Given the description of an element on the screen output the (x, y) to click on. 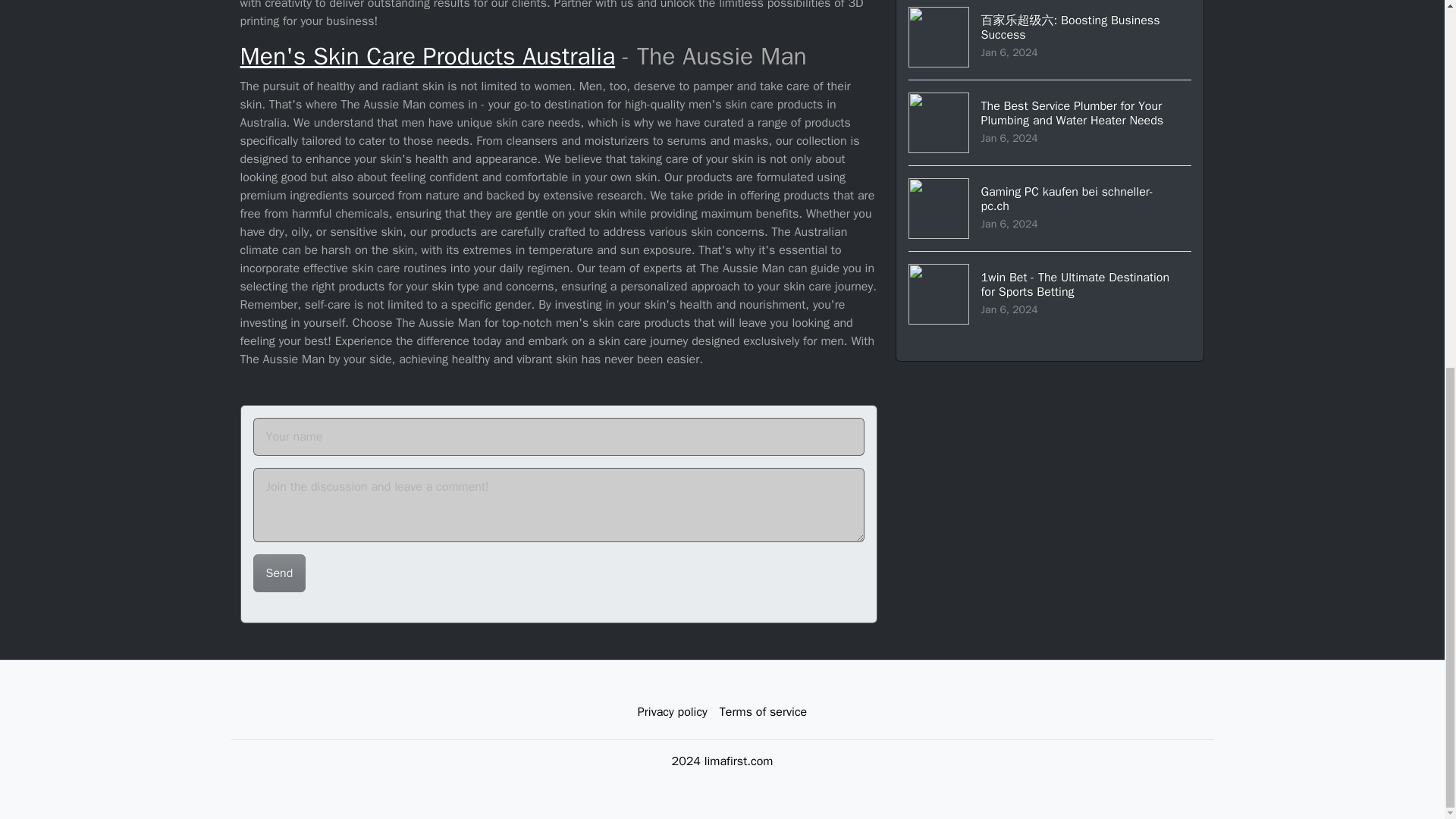
Send (1050, 207)
Send (279, 573)
Privacy policy (279, 573)
Men's Skin Care Products Australia (672, 711)
Terms of service (427, 56)
